Given the description of an element on the screen output the (x, y) to click on. 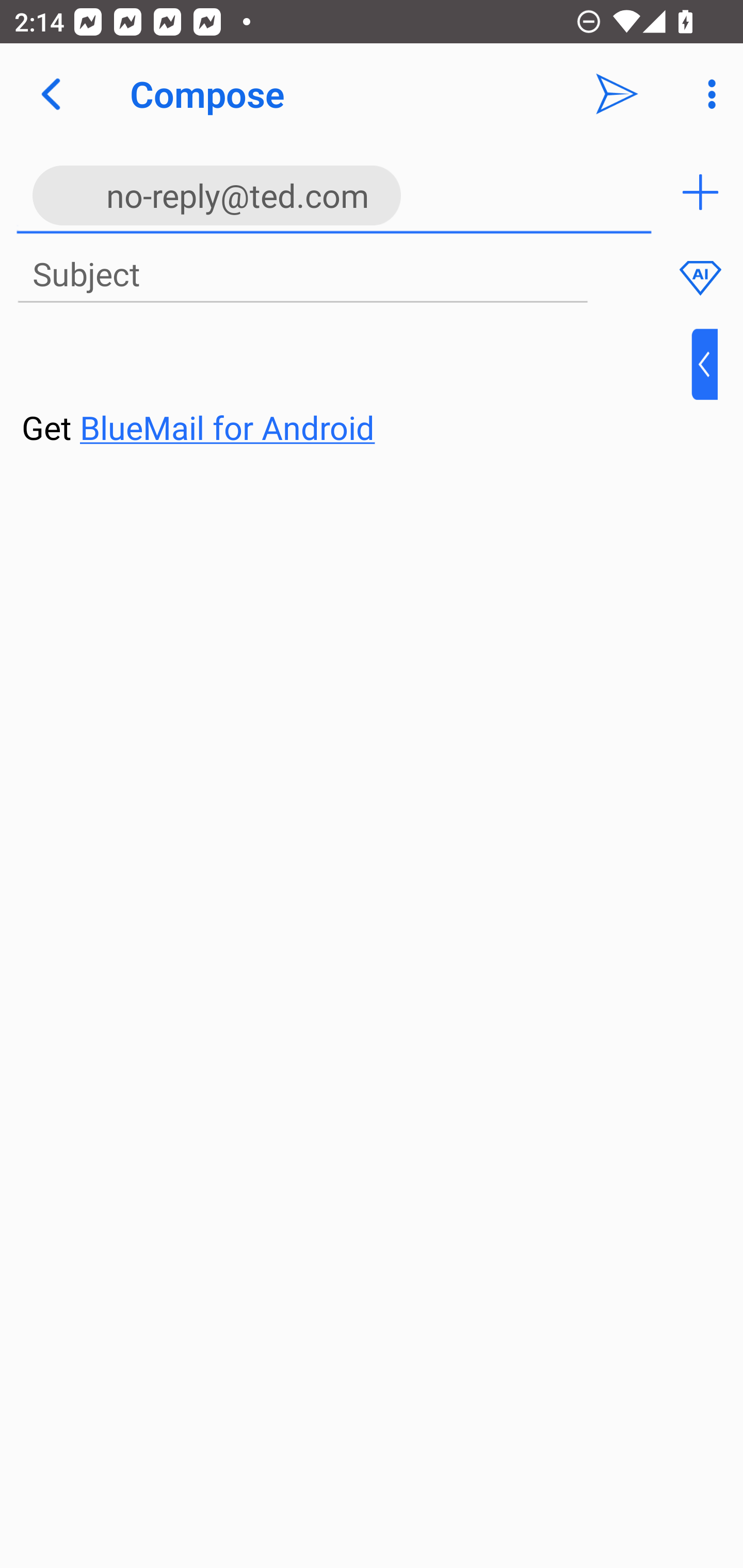
Navigate up (50, 93)
Send (616, 93)
More Options (706, 93)
<no-reply@ted.com>,  (334, 191)
Add recipient (To) (699, 191)
Subject (302, 274)


⁣Get BlueMail for Android ​ (355, 390)
